Given the description of an element on the screen output the (x, y) to click on. 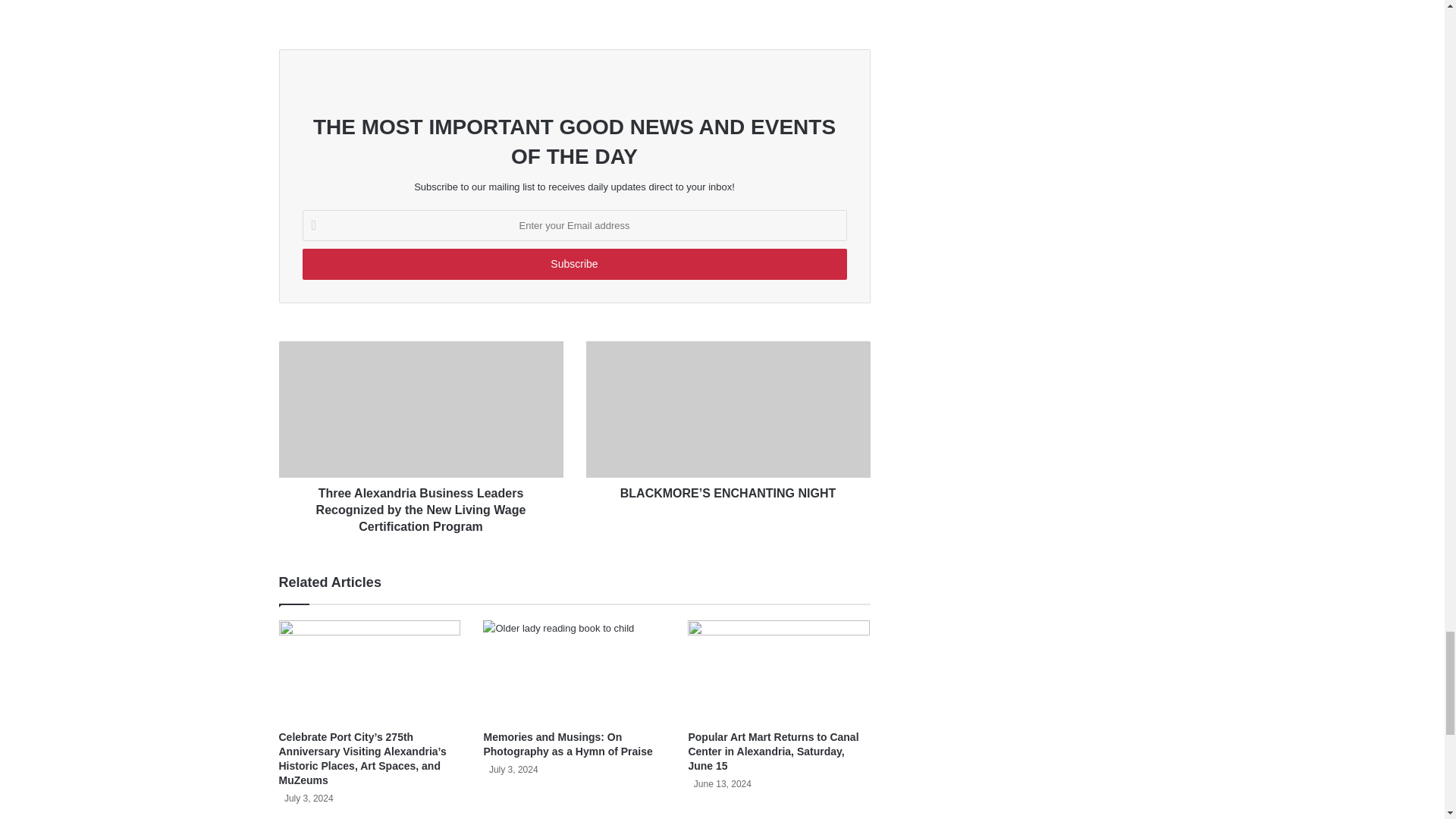
Subscribe (573, 264)
